Given the description of an element on the screen output the (x, y) to click on. 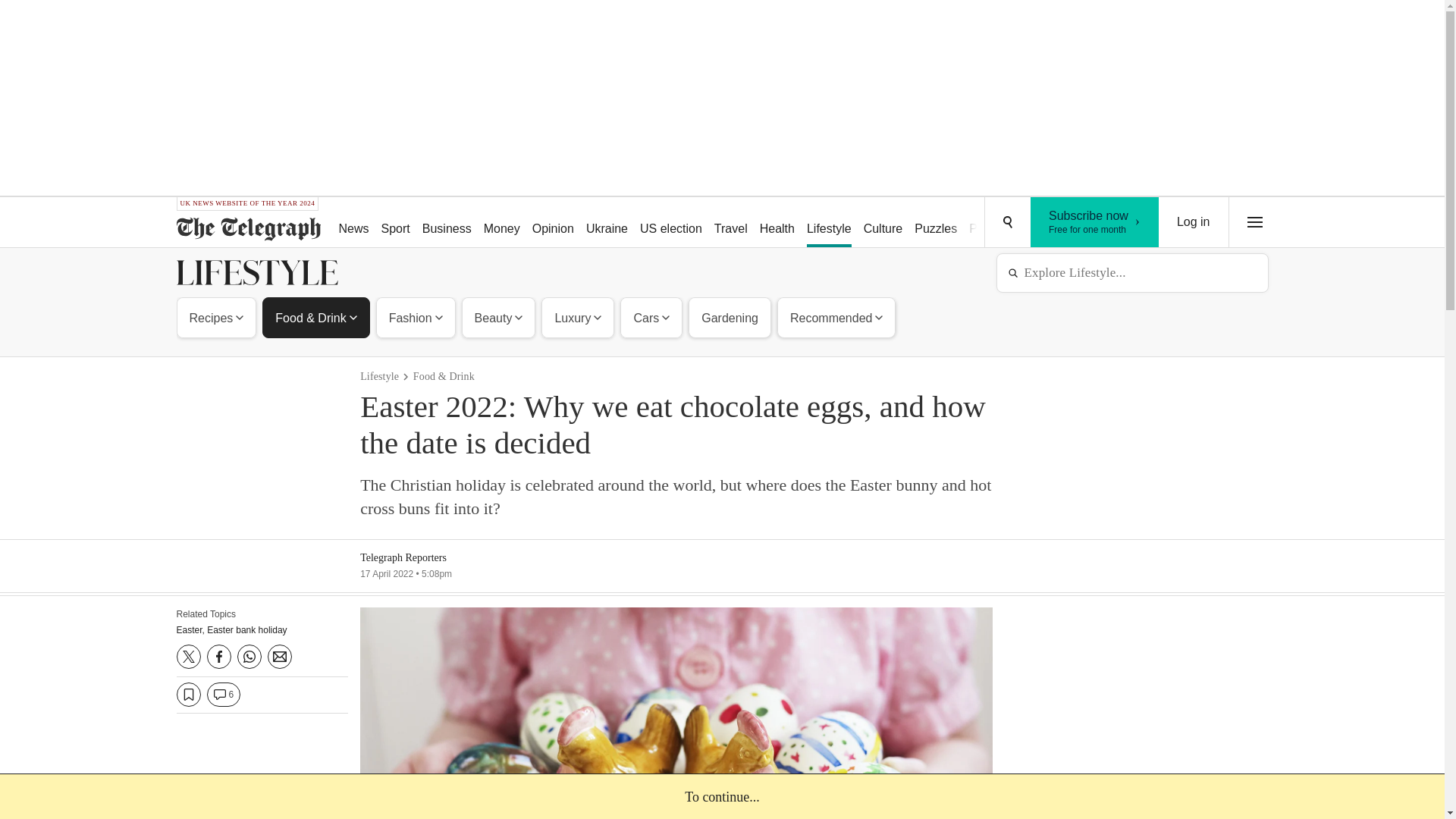
Ukraine (606, 223)
US election (670, 223)
Lifestyle (828, 223)
Health (1094, 222)
Culture (777, 223)
Puzzles (882, 223)
Recipes (935, 223)
Travel (216, 317)
Log in (730, 223)
